Given the description of an element on the screen output the (x, y) to click on. 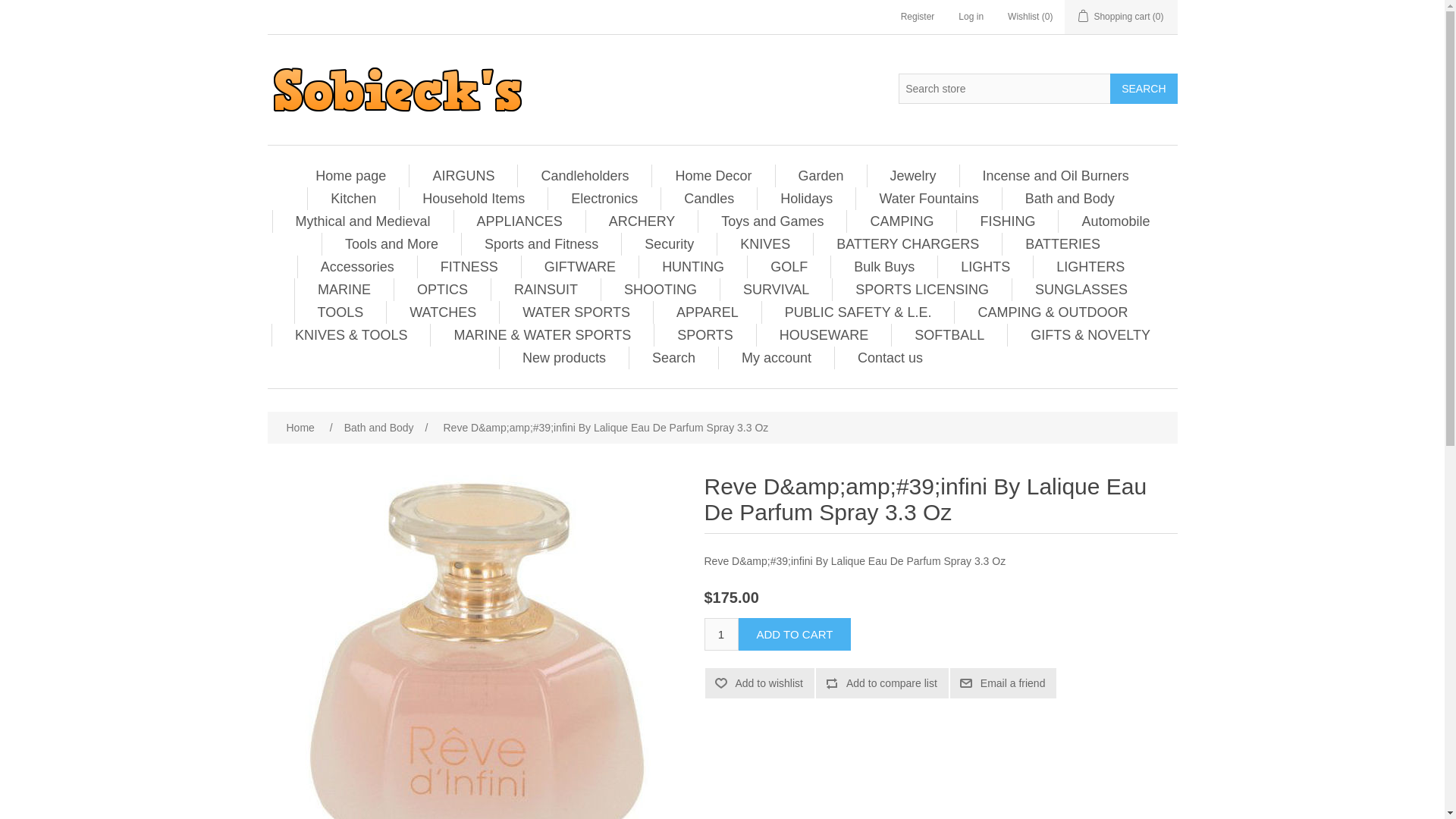
Sports and Fitness (541, 243)
Candles (709, 198)
Search (1142, 88)
BATTERIES (1062, 243)
Household Items (473, 198)
GOLF (788, 266)
Email a friend (1003, 683)
LIGHTS (985, 266)
Kitchen (353, 198)
Search (1142, 88)
GIFTWARE (580, 266)
FITNESS (468, 266)
Search (1142, 88)
Add to compare list (882, 683)
APPLIANCES (519, 220)
